Given the description of an element on the screen output the (x, y) to click on. 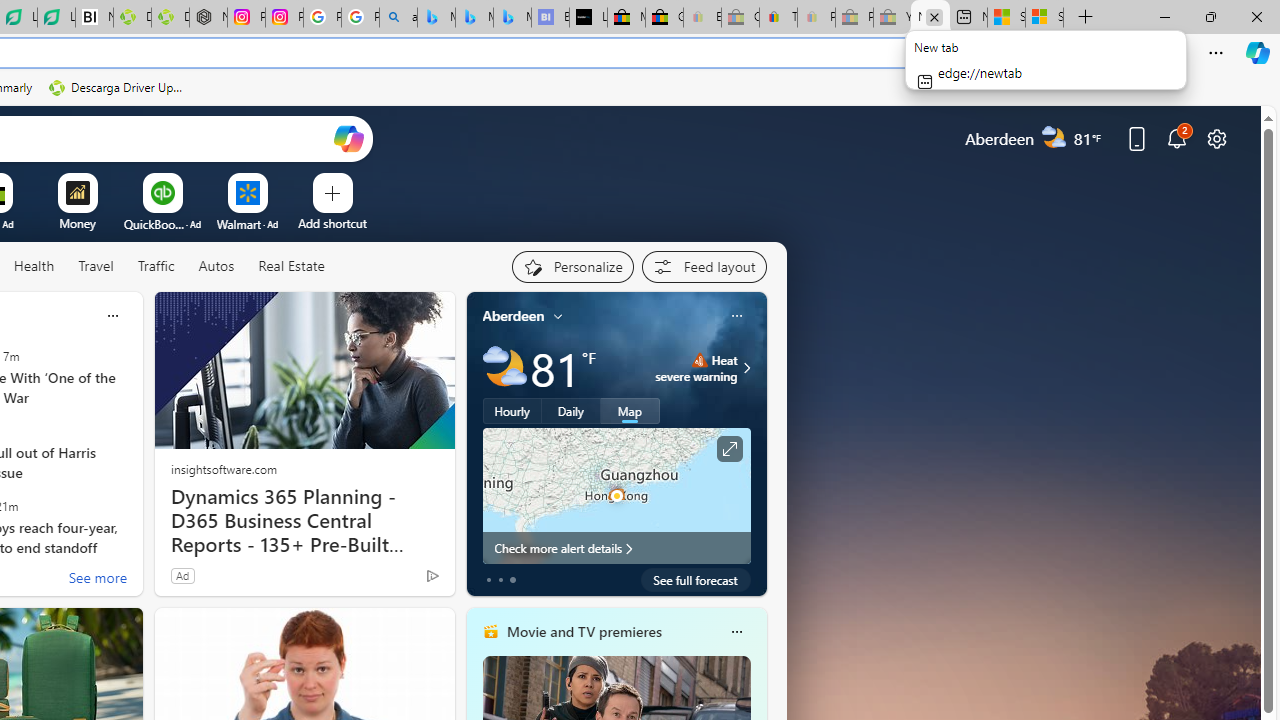
Map (630, 411)
More options (736, 631)
Descarga Driver Updater (170, 17)
Daily (571, 411)
Traffic (155, 265)
See more (96, 579)
Press Room - eBay Inc. - Sleeping (853, 17)
Movie and TV premieres (583, 631)
Ad Choice (432, 575)
See full forecast (695, 579)
Larger map  (616, 495)
insightsoftware.com (223, 468)
